Given the description of an element on the screen output the (x, y) to click on. 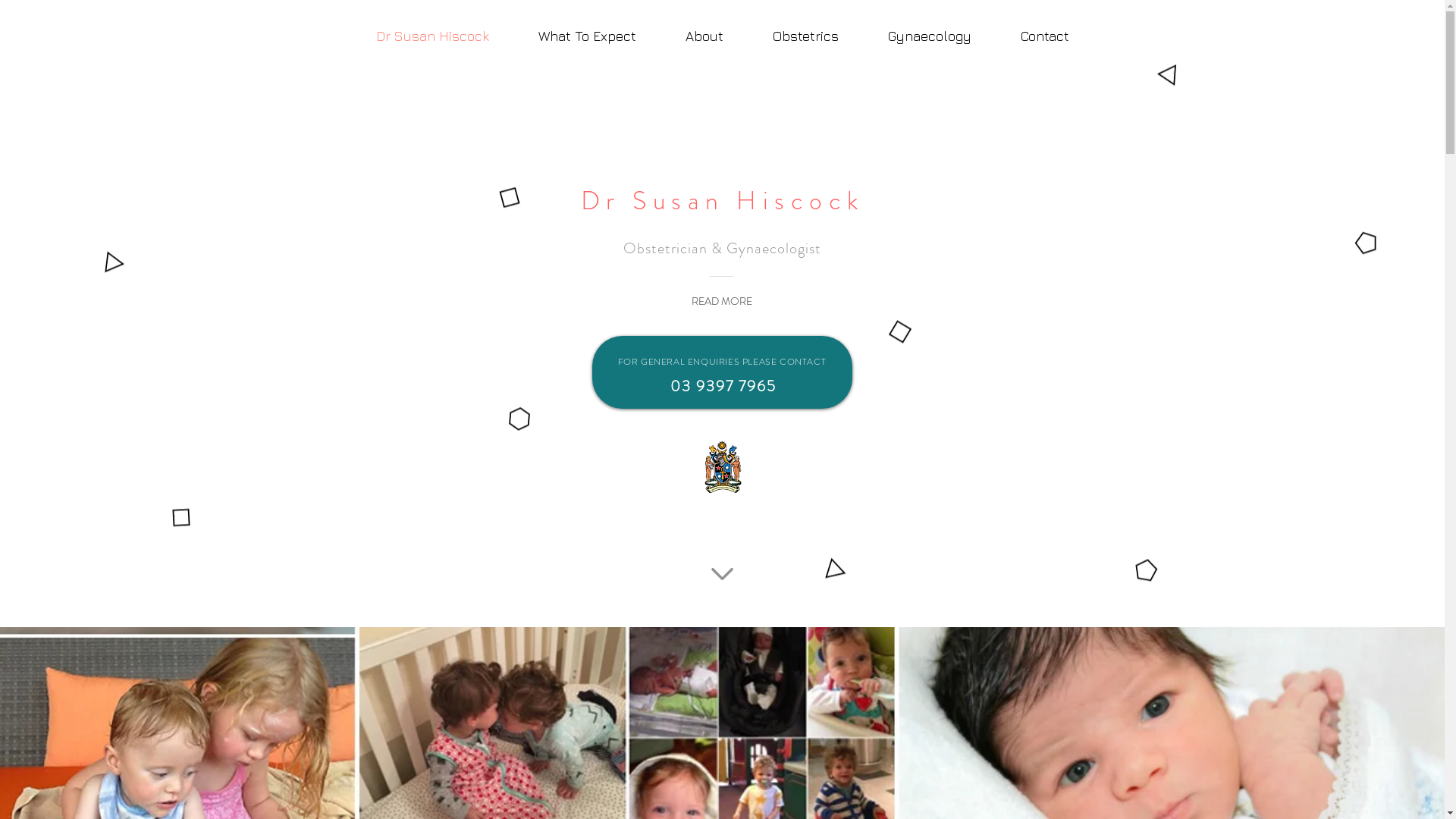
03 9397 7965 Element type: text (723, 386)
Contact Element type: text (1045, 36)
Obstetrics Element type: text (804, 36)
What To Expect Element type: text (587, 36)
Gynaecology Element type: text (928, 36)
READ MORE Element type: text (721, 301)
Dr Susan Hiscock Element type: text (431, 36)
About Element type: text (704, 36)
